Given the description of an element on the screen output the (x, y) to click on. 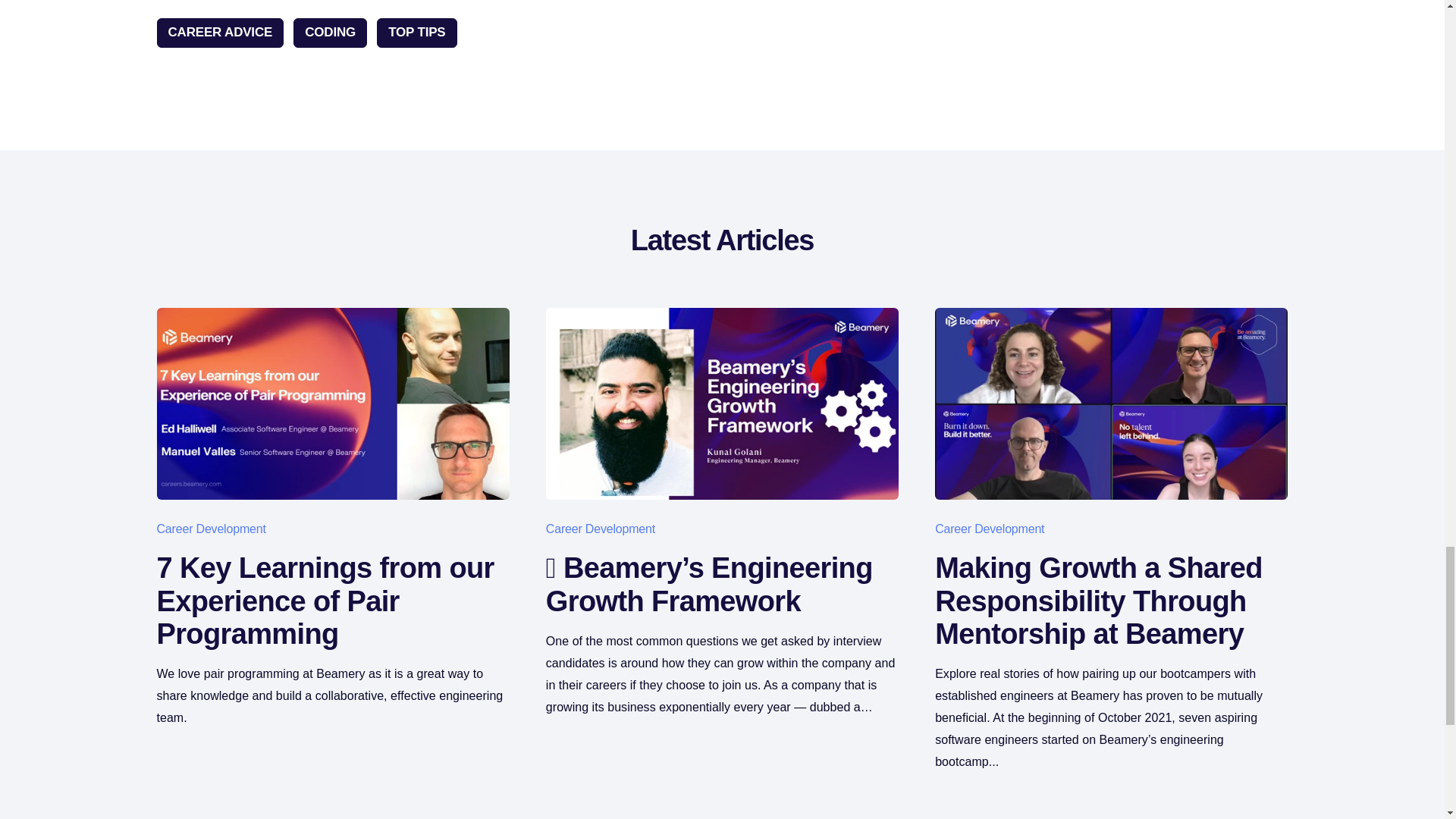
View posts tagged 'Coding' (330, 32)
View posts tagged 'Career advice' (219, 32)
View posts tagged 'Top Tips' (417, 32)
CAREER ADVICE (219, 32)
